Given the description of an element on the screen output the (x, y) to click on. 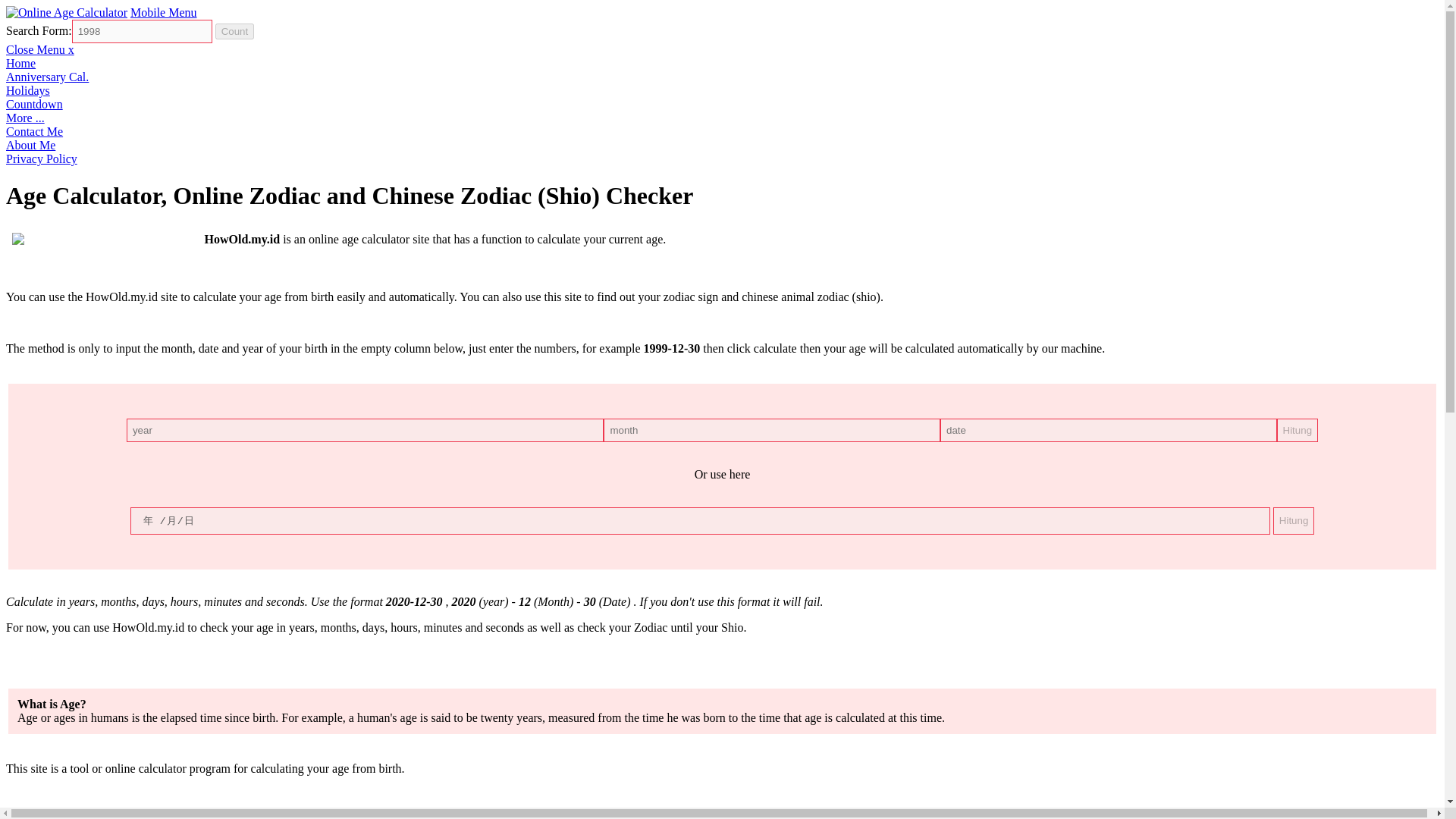
Anniversary Cal. (46, 76)
Contact Me (33, 131)
Home (19, 62)
Close Menu x (39, 49)
Count (234, 31)
Holidays (27, 90)
Hubungi Kami (33, 131)
About Me (30, 144)
Tentang Kami (30, 144)
Countdown (33, 103)
More ... (25, 117)
Hitung (1297, 430)
Online Age Calculator (66, 12)
Mobile Menu (163, 11)
Privacy Policy (41, 158)
